Given the description of an element on the screen output the (x, y) to click on. 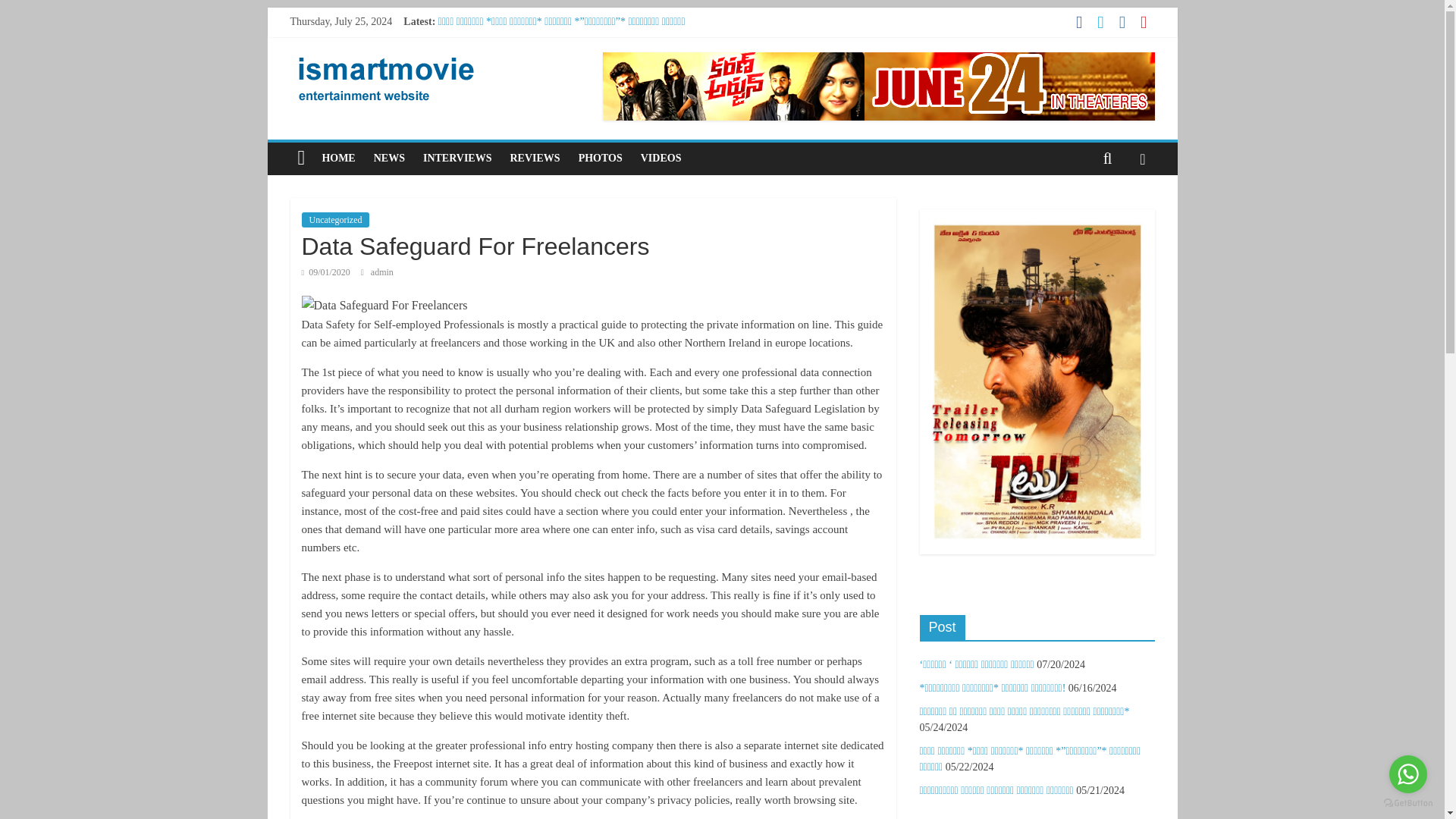
admin (382, 271)
Uncategorized (335, 219)
REVIEWS (534, 158)
HOME (338, 158)
11:03 am (325, 271)
INTERVIEWS (456, 158)
PHOTOS (600, 158)
NEWS (389, 158)
VIDEOS (660, 158)
admin (382, 271)
